Given the description of an element on the screen output the (x, y) to click on. 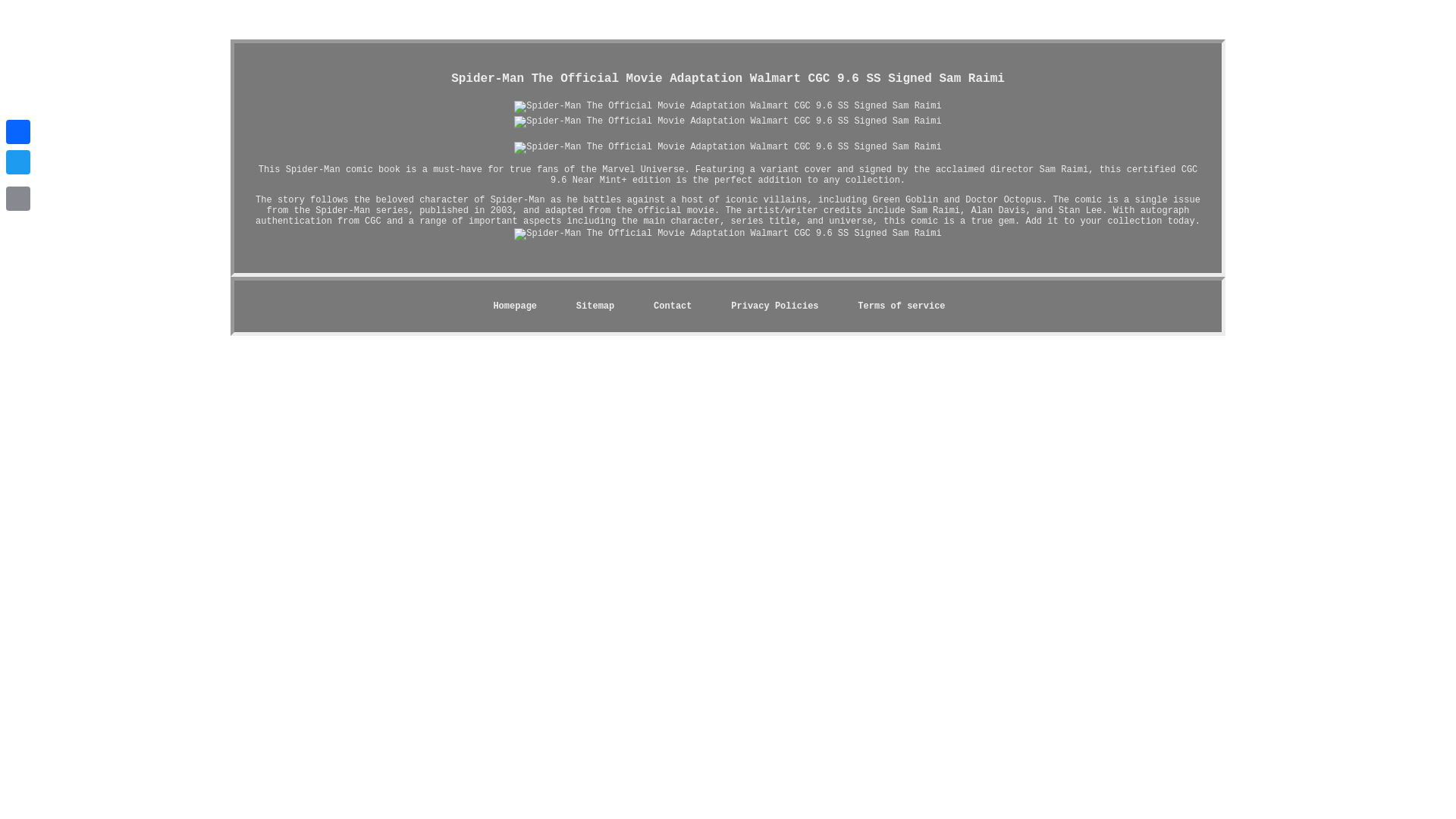
Facebook (17, 132)
Email (17, 198)
Twitter (17, 162)
